Given the description of an element on the screen output the (x, y) to click on. 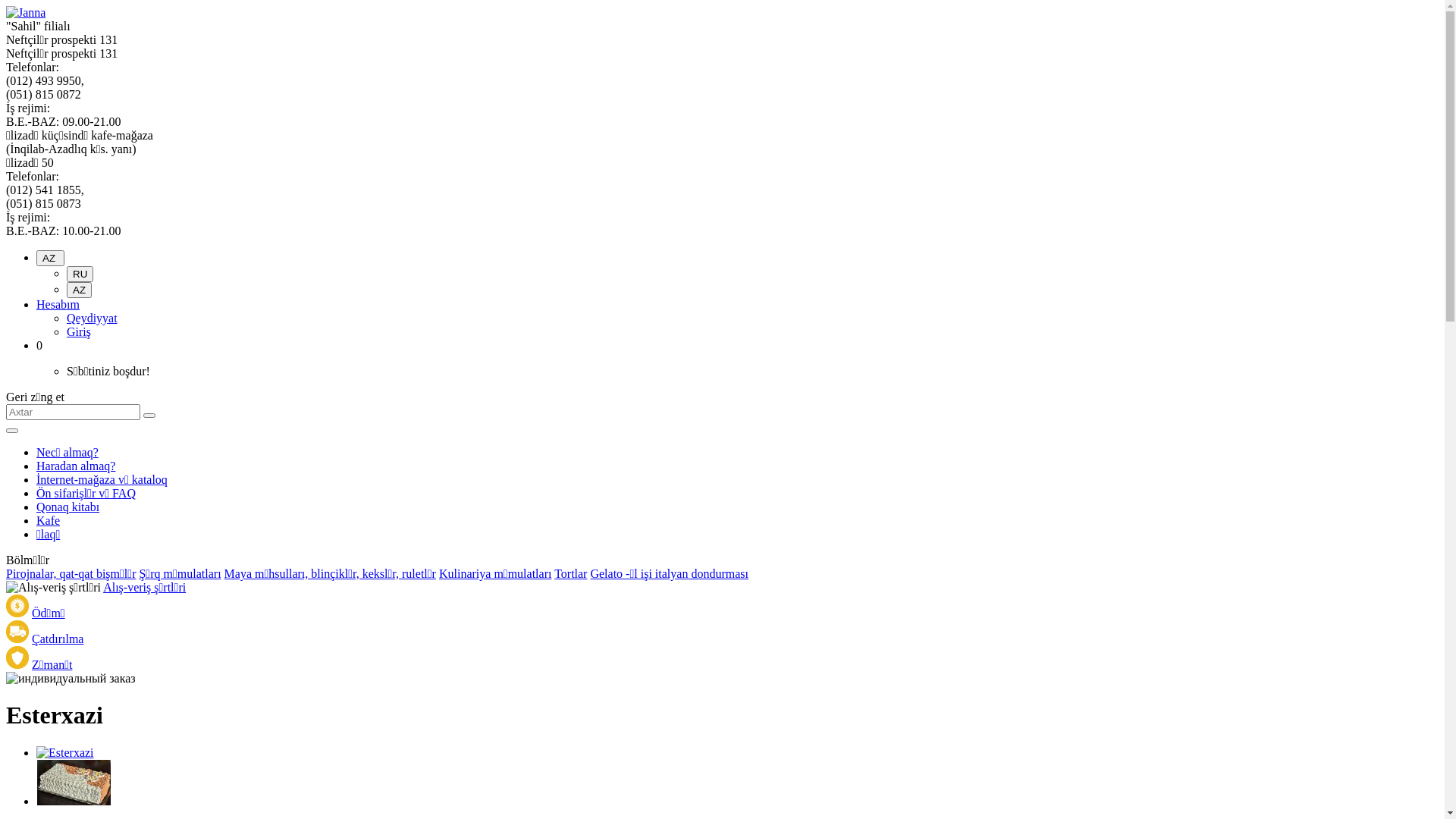
AZ Element type: text (78, 290)
RU Element type: text (79, 274)
Esterxazi Element type: hover (65, 752)
Esterxazi Element type: hover (74, 782)
Kafe Element type: text (47, 520)
Esterxazi Element type: hover (65, 752)
Esterxazi Element type: hover (74, 800)
Haradan almaq? Element type: text (75, 465)
Tortlar Element type: text (570, 573)
Janna Element type: hover (25, 12)
Qeydiyyat Element type: text (91, 317)
AZ  Element type: text (50, 258)
